Given the description of an element on the screen output the (x, y) to click on. 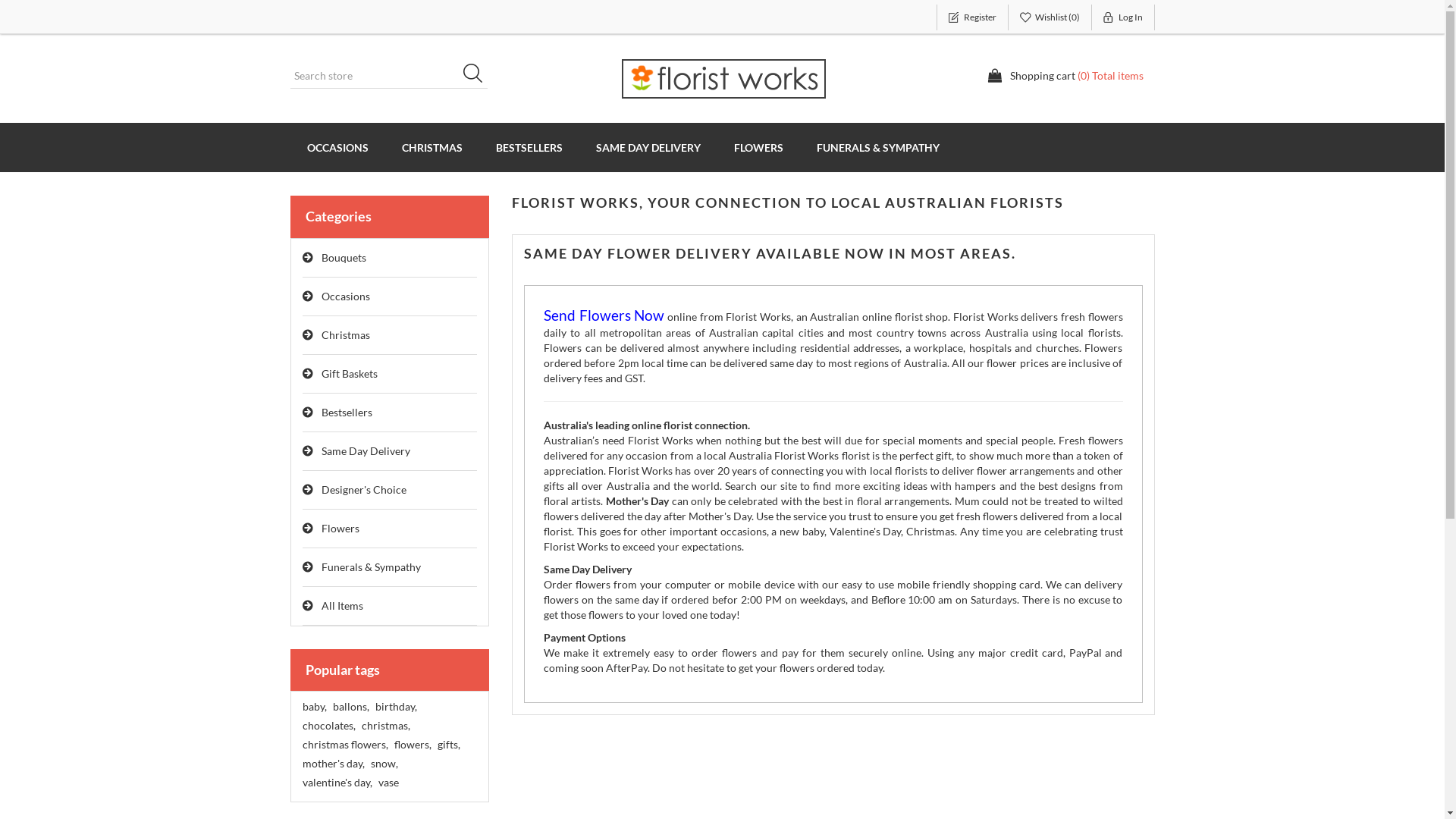
All Items Element type: text (388, 605)
OCCASIONS Element type: text (336, 147)
Gift Baskets Element type: text (388, 373)
Register Element type: text (971, 17)
birthday, Element type: text (395, 706)
Wishlist (0) Element type: text (1050, 17)
Flowers Element type: text (388, 528)
Shopping cart (0) Total items Element type: text (1065, 75)
BESTSELLERS Element type: text (529, 147)
Occasions Element type: text (388, 296)
valentine's day, Element type: text (336, 782)
SAME DAY DELIVERY Element type: text (648, 147)
Same Day Delivery Element type: text (388, 451)
Send Flowers Now Element type: text (603, 316)
gifts, Element type: text (447, 744)
mother's day, Element type: text (332, 763)
ballons, Element type: text (350, 706)
snow, Element type: text (383, 763)
christmas, Element type: text (384, 725)
flowers, Element type: text (412, 744)
CHRISTMAS Element type: text (432, 147)
Log In Element type: text (1123, 17)
FLOWERS Element type: text (758, 147)
FUNERALS & SYMPATHY Element type: text (877, 147)
Bouquets Element type: text (388, 257)
Designer's Choice Element type: text (388, 489)
Bestsellers Element type: text (388, 412)
vase Element type: text (387, 782)
chocolates, Element type: text (327, 725)
christmas flowers, Element type: text (344, 744)
Christmas Element type: text (388, 335)
baby, Element type: text (313, 706)
Funerals & Sympathy Element type: text (388, 567)
